Given the description of an element on the screen output the (x, y) to click on. 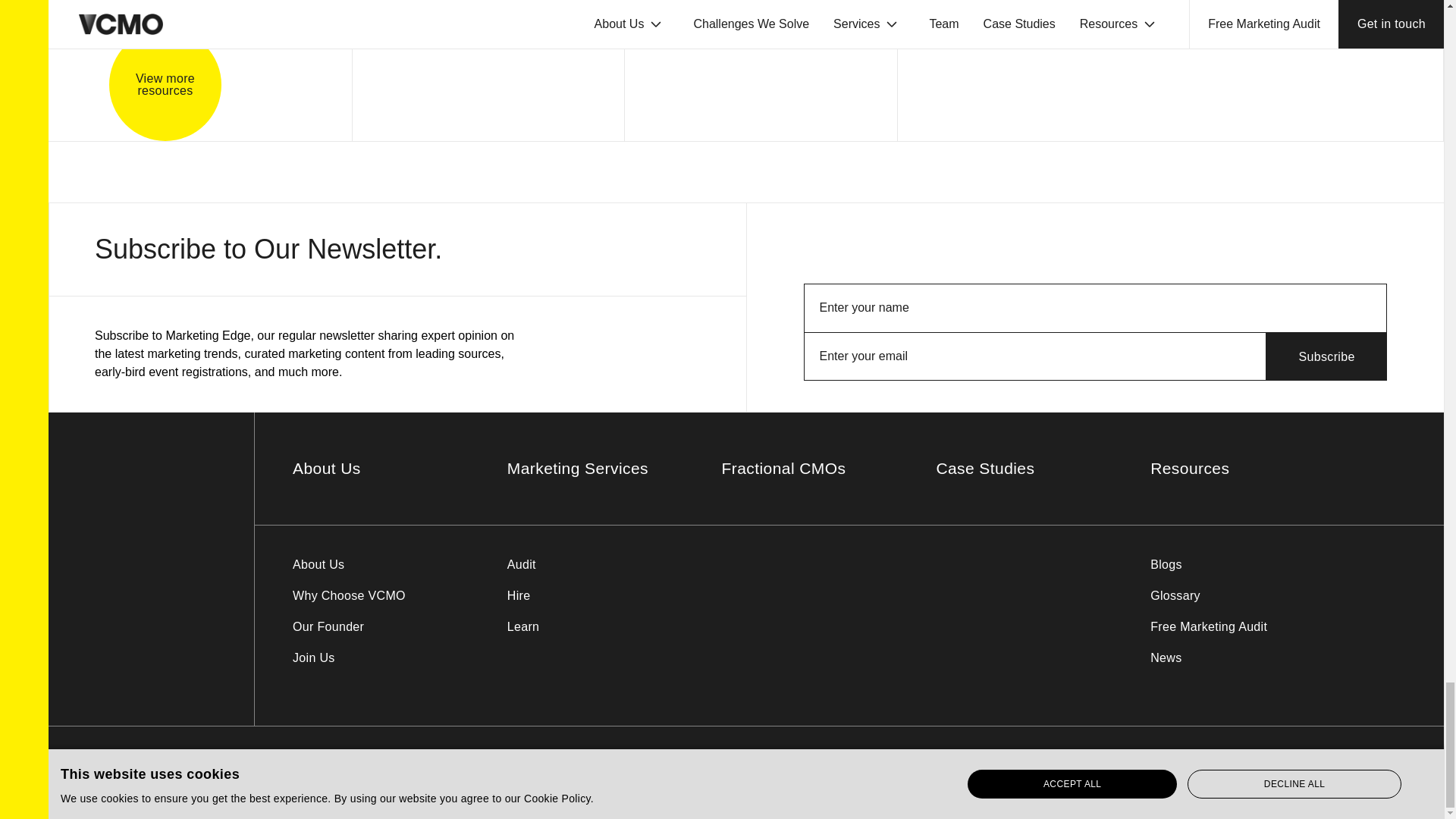
Subscribe (1326, 356)
